Given the description of an element on the screen output the (x, y) to click on. 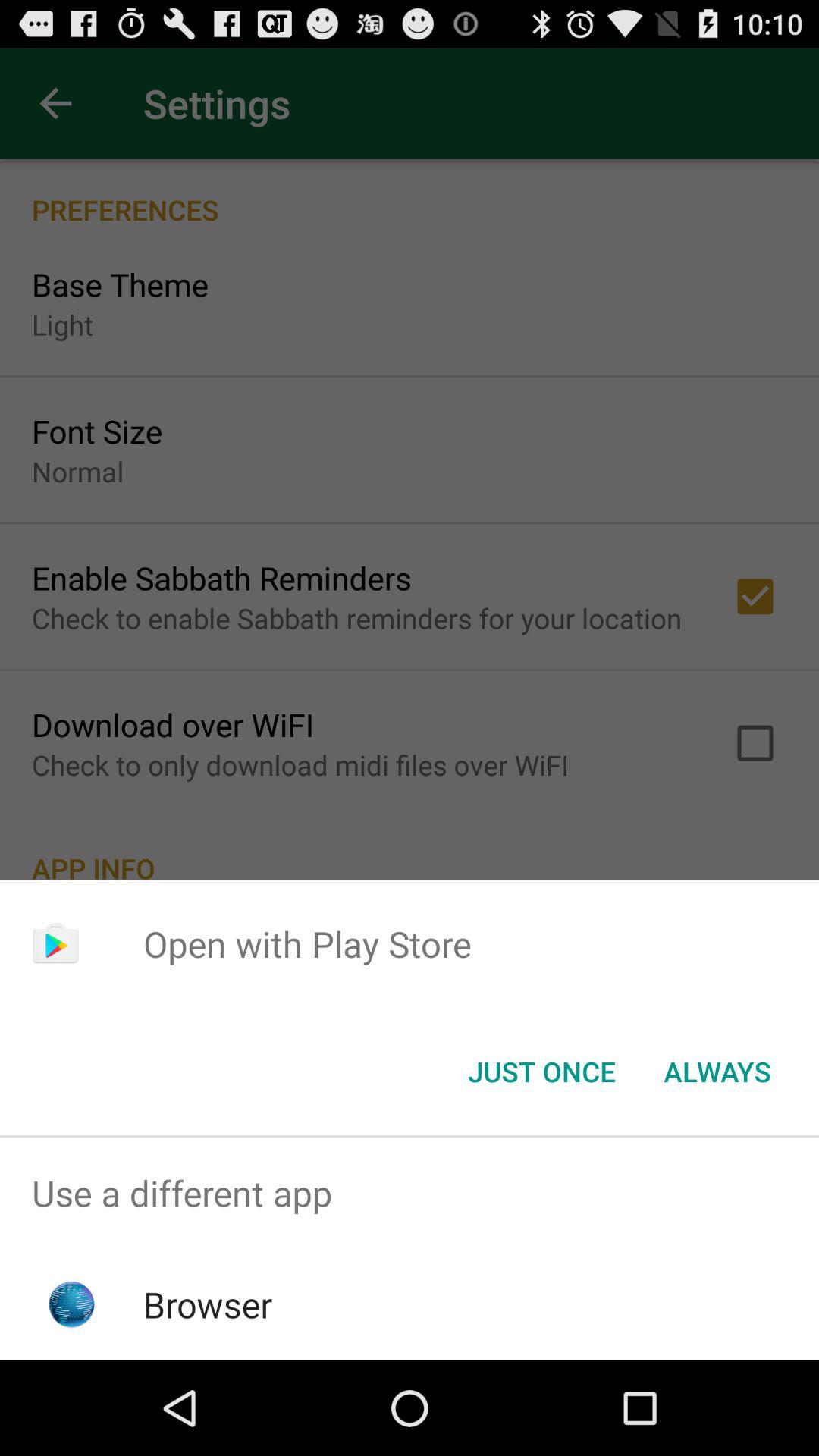
jump until the always button (717, 1071)
